Given the description of an element on the screen output the (x, y) to click on. 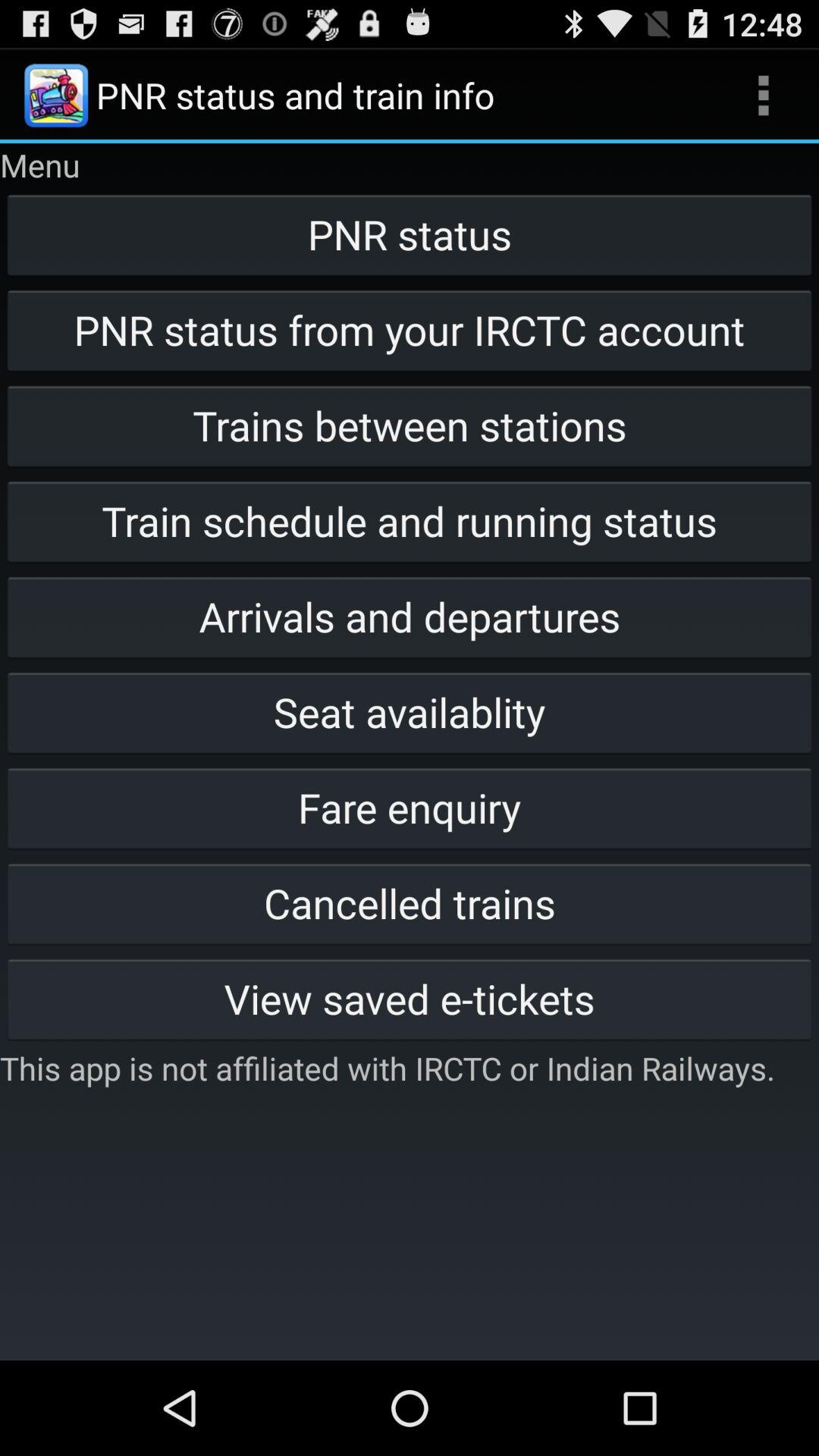
tap the app next to the pnr status and item (763, 95)
